Given the description of an element on the screen output the (x, y) to click on. 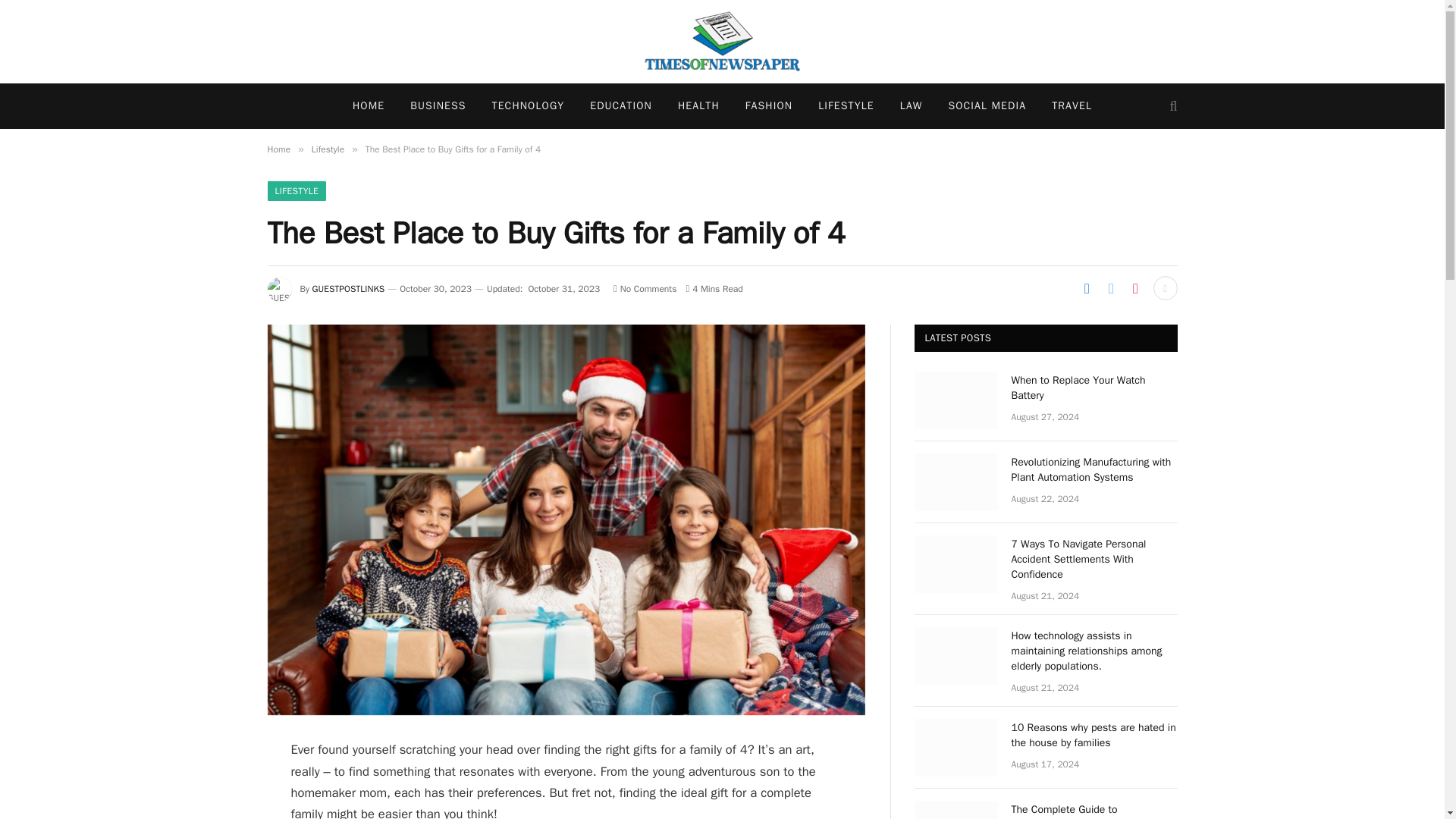
SOCIAL MEDIA (986, 105)
Timesofnewspaper (721, 41)
Lifestyle (327, 149)
TRAVEL (1072, 105)
TECHNOLOGY (528, 105)
Home (277, 149)
LIFESTYLE (296, 190)
HOME (368, 105)
LIFESTYLE (845, 105)
